Given the description of an element on the screen output the (x, y) to click on. 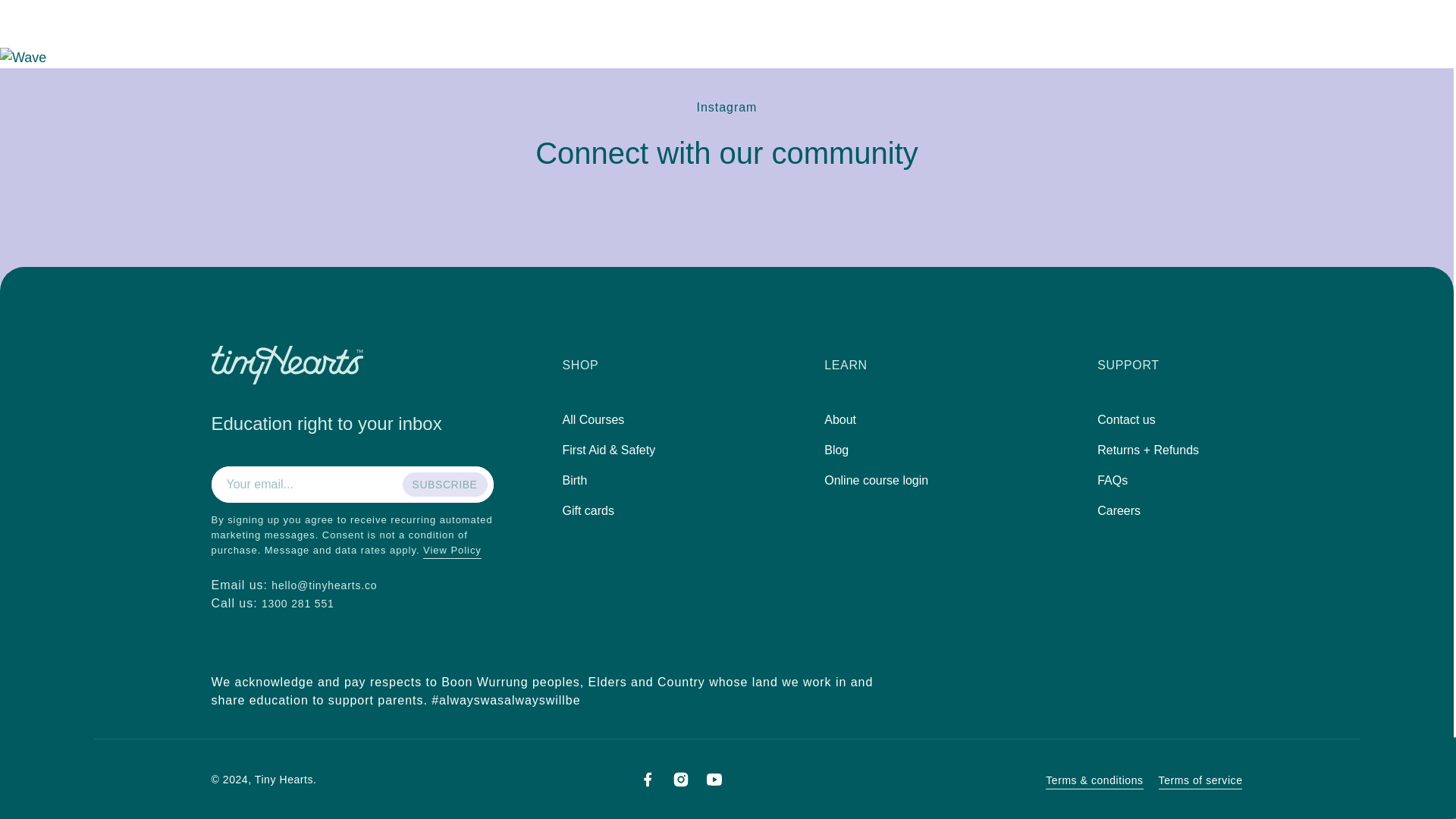
tel:1300281551 (298, 603)
Privacy Policy (452, 550)
